Given the description of an element on the screen output the (x, y) to click on. 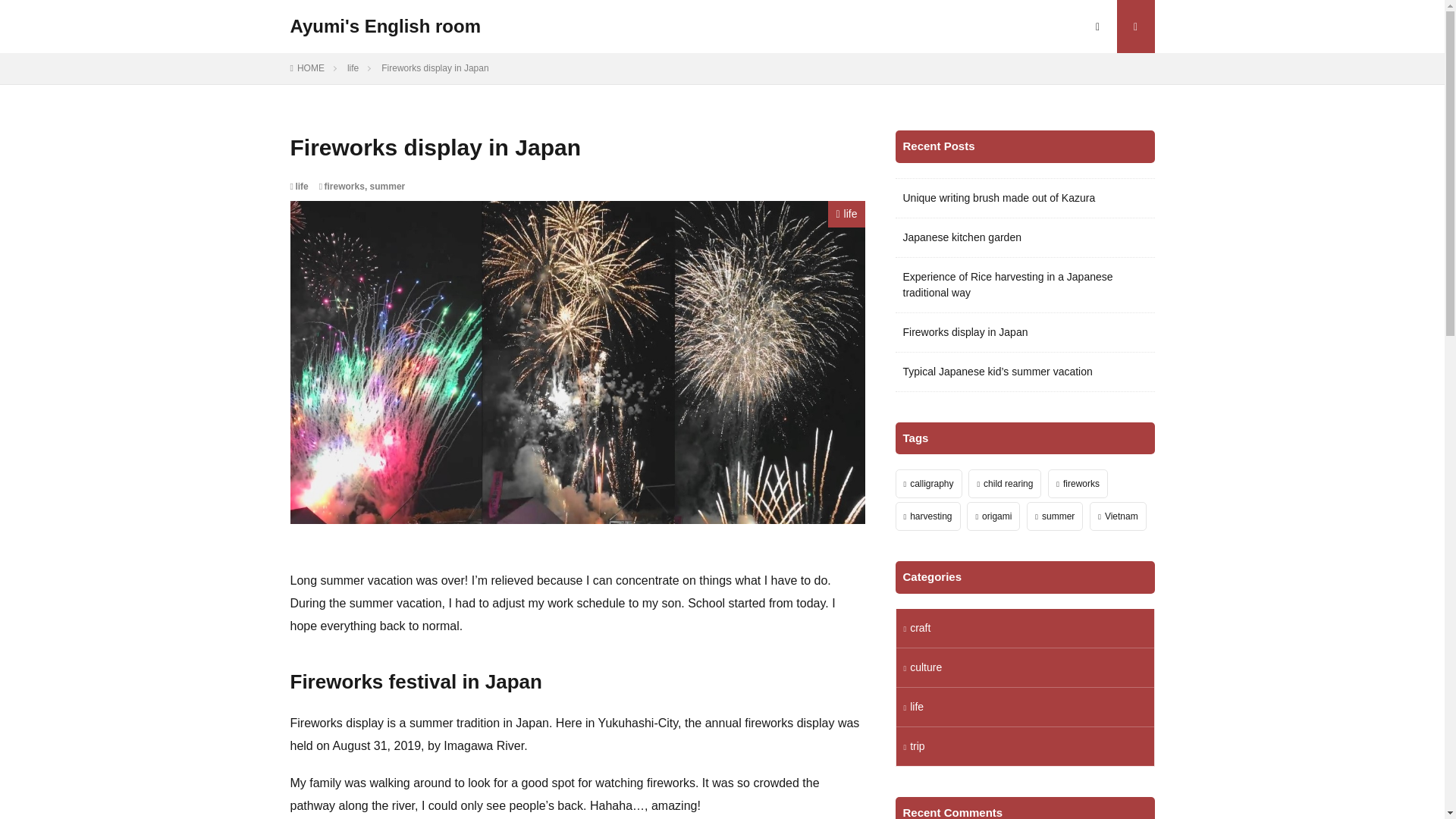
Fireworks display in Japan (964, 332)
child rearing (1004, 483)
Vietnam (1117, 516)
craft (1025, 628)
life (846, 213)
HOME (310, 68)
calligraphy (927, 483)
life (352, 68)
harvesting (927, 516)
origami (993, 516)
trip (1025, 746)
culture (1025, 667)
Japanese kitchen garden (961, 236)
life (1025, 706)
Ayumi's English room (384, 26)
